Given the description of an element on the screen output the (x, y) to click on. 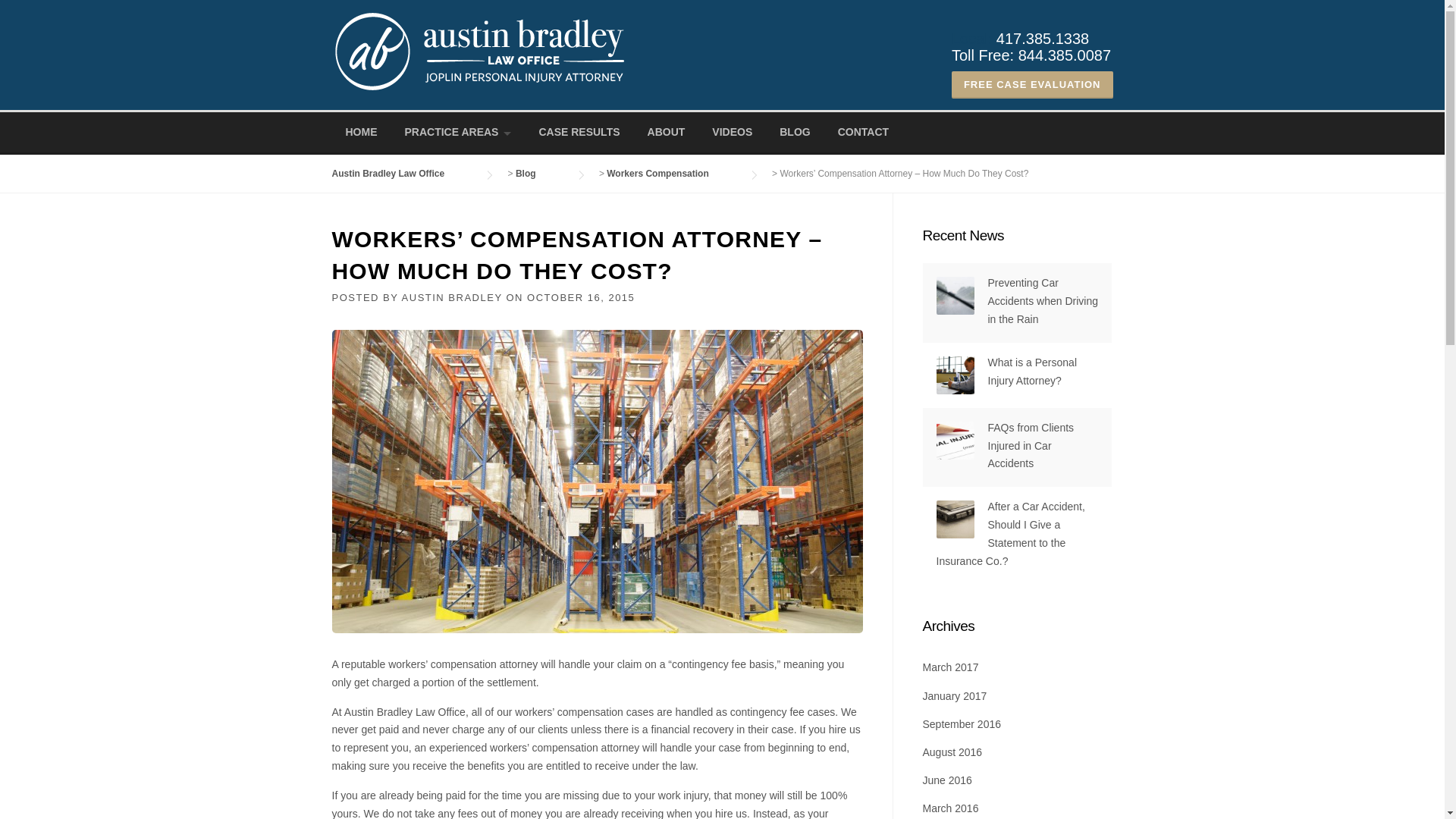
CASE RESULTS (578, 133)
Austin Bradley Law Office (973, 38)
Go to Blog. (540, 173)
Austin Bradley Law Office (403, 173)
Blog (540, 173)
What is a Personal Injury Attorney? (1032, 371)
PRACTICE AREAS (458, 133)
Go to Austin Bradley Law Office. (403, 173)
Local: (973, 38)
